Given the description of an element on the screen output the (x, y) to click on. 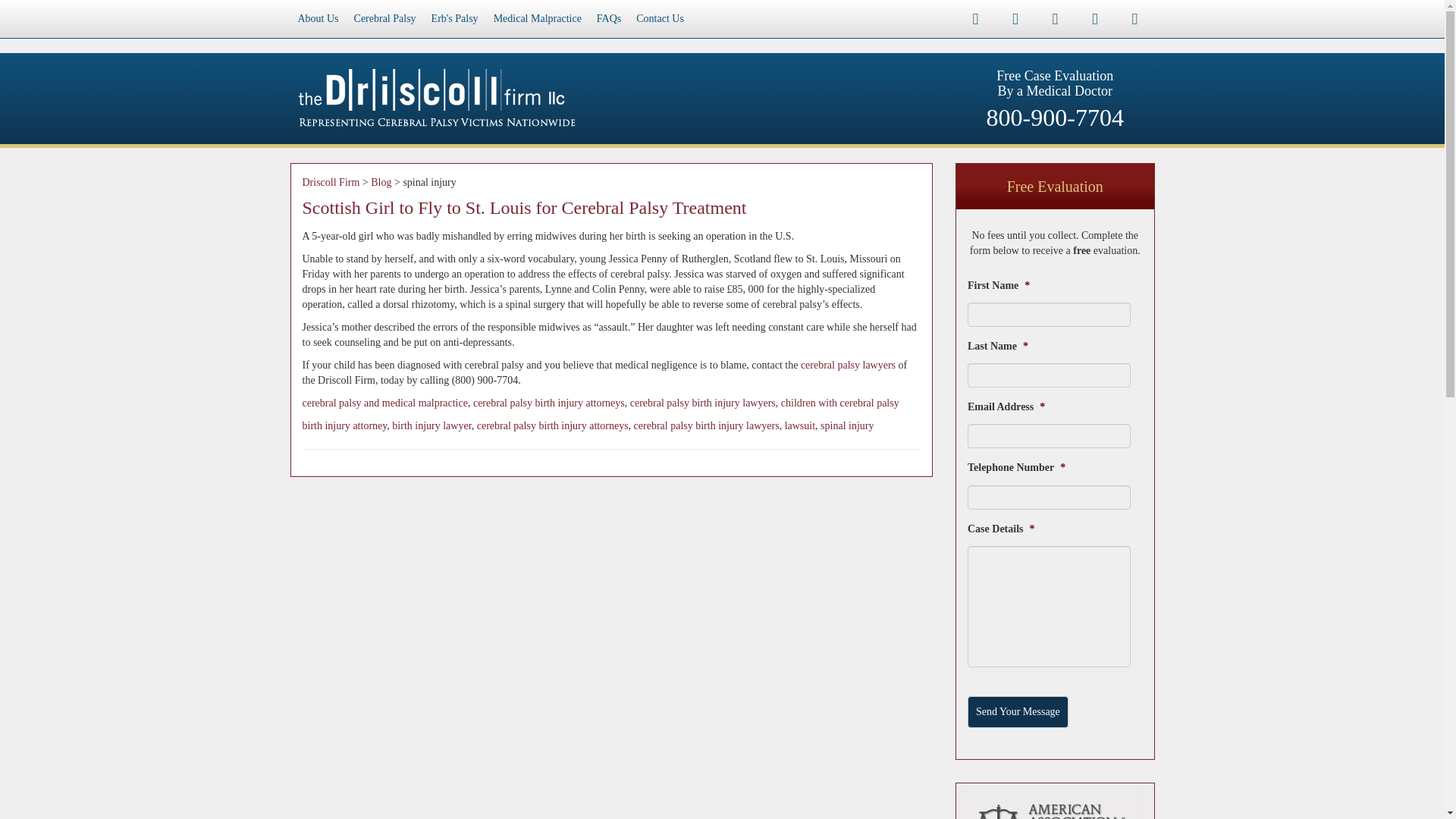
cerebral palsy birth injury attorneys (552, 425)
cerebral palsy lawyers (847, 365)
Driscoll Firm (330, 182)
Blog (381, 182)
cerebral palsy birth injury lawyers (703, 402)
Contact Us (659, 18)
Medical Malpractice (537, 18)
cerebral palsy birth injury attorneys (548, 402)
Go to Blog. (381, 182)
Send Your Message (1018, 712)
cerebral palsy birth injury lawyers (705, 425)
Cerebral Palsy (384, 18)
Send Your Message (1018, 712)
Erb's Palsy (454, 18)
